Given the description of an element on the screen output the (x, y) to click on. 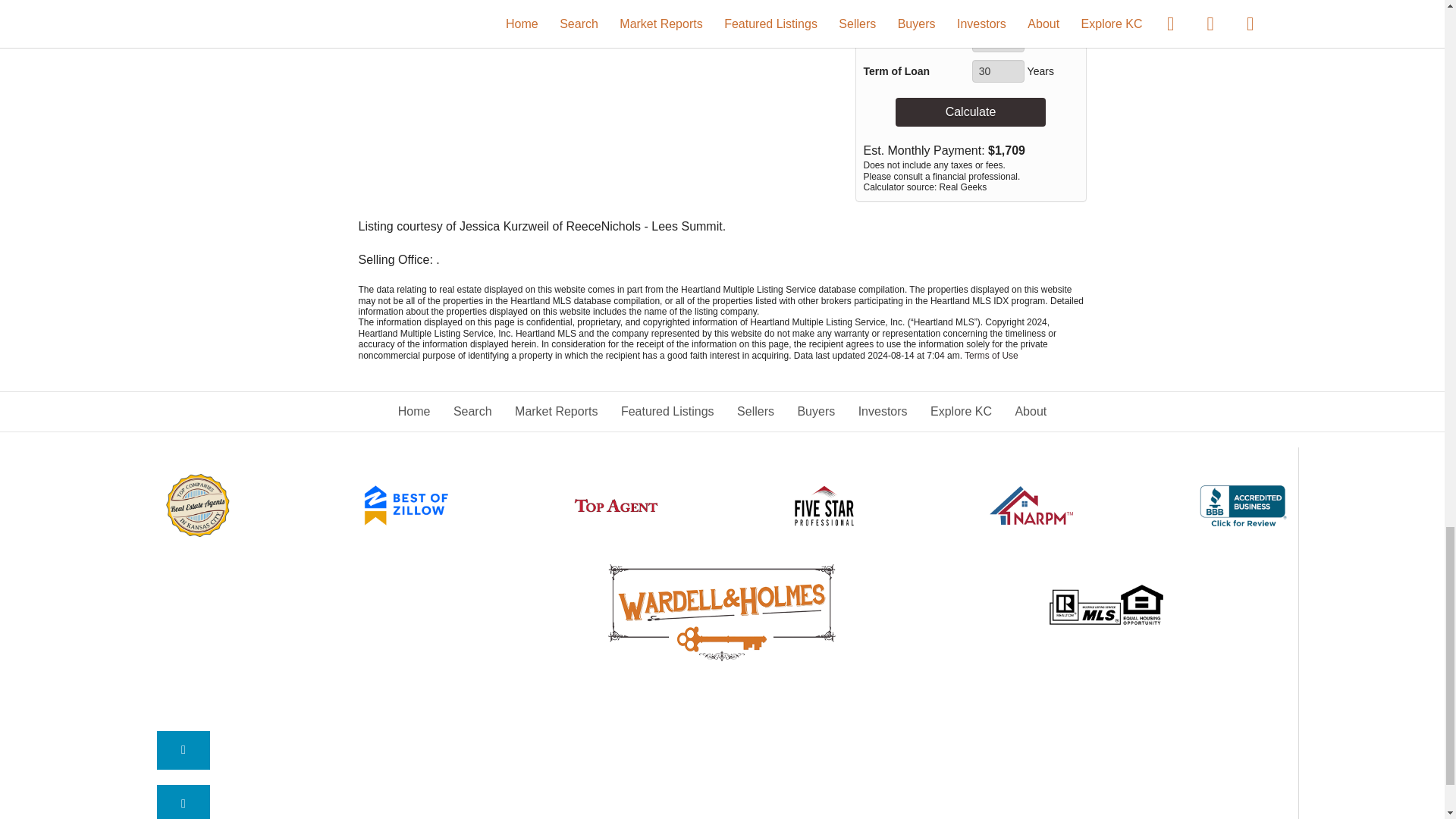
Logo (721, 612)
MLS Logo (1106, 604)
Go to top (183, 801)
285000 (1024, 11)
Contact (183, 750)
30 (998, 70)
6 (998, 40)
